Given the description of an element on the screen output the (x, y) to click on. 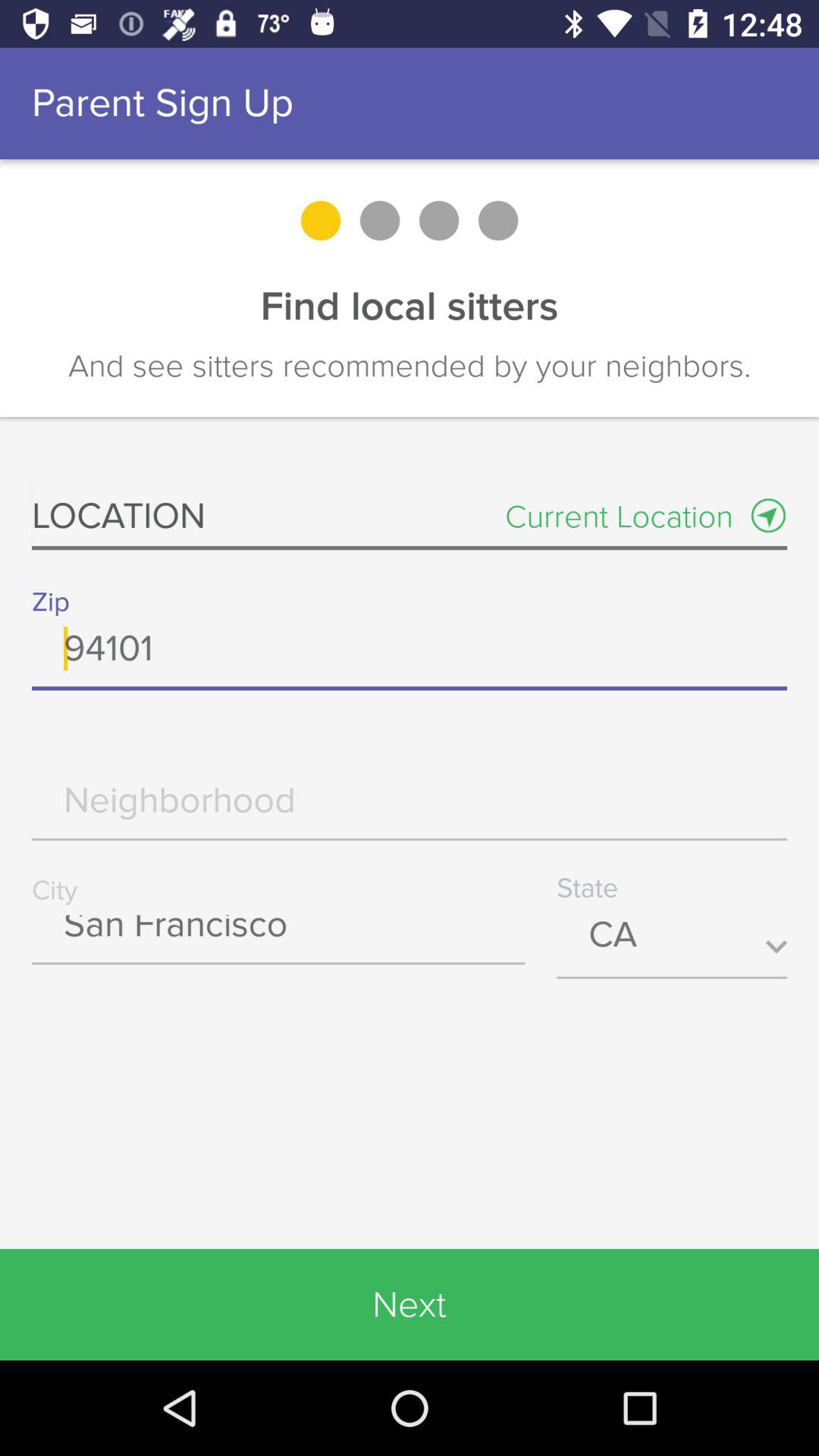
enter neighborhood info (409, 811)
